Given the description of an element on the screen output the (x, y) to click on. 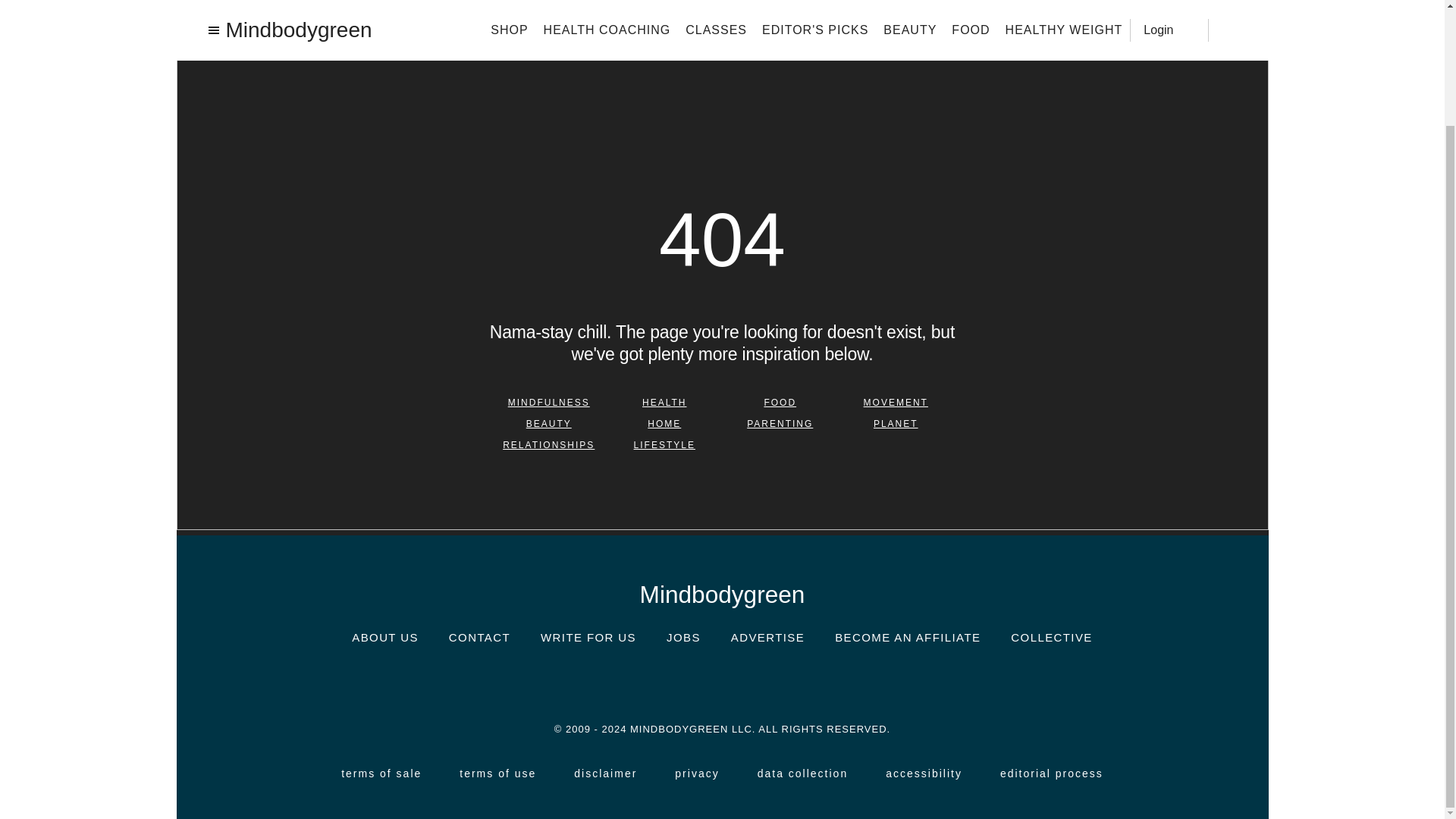
LIFESTYLE (664, 444)
BECOME AN AFFILIATE (906, 636)
Facebook (676, 682)
RELATIONSHIPS (549, 444)
Pinterest (767, 682)
Twitter (721, 681)
JOBS (683, 636)
YouTube (812, 680)
MOVEMENT (895, 402)
HOME (664, 423)
